Given the description of an element on the screen output the (x, y) to click on. 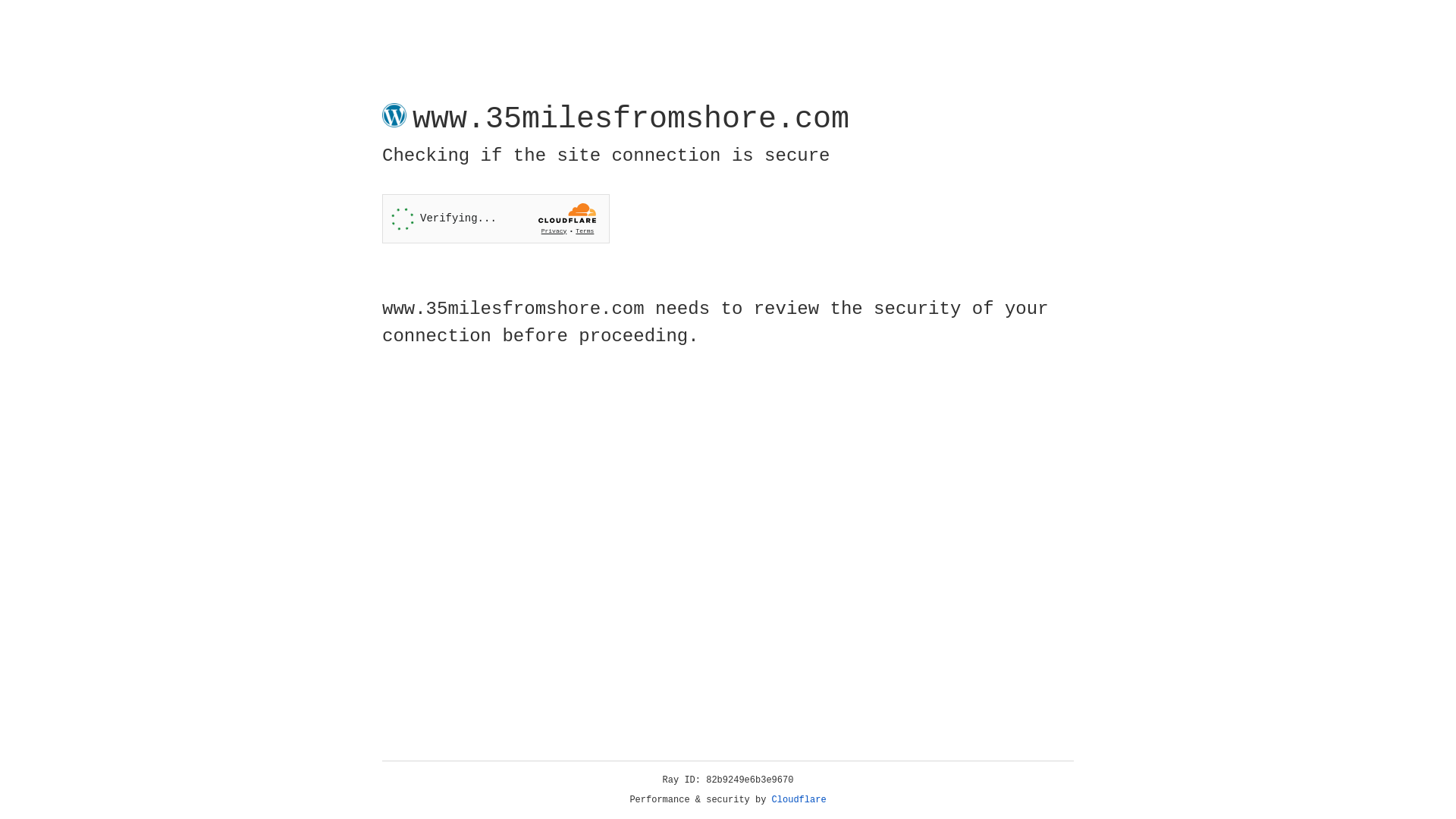
Cloudflare Element type: text (798, 799)
Widget containing a Cloudflare security challenge Element type: hover (495, 218)
